Given the description of an element on the screen output the (x, y) to click on. 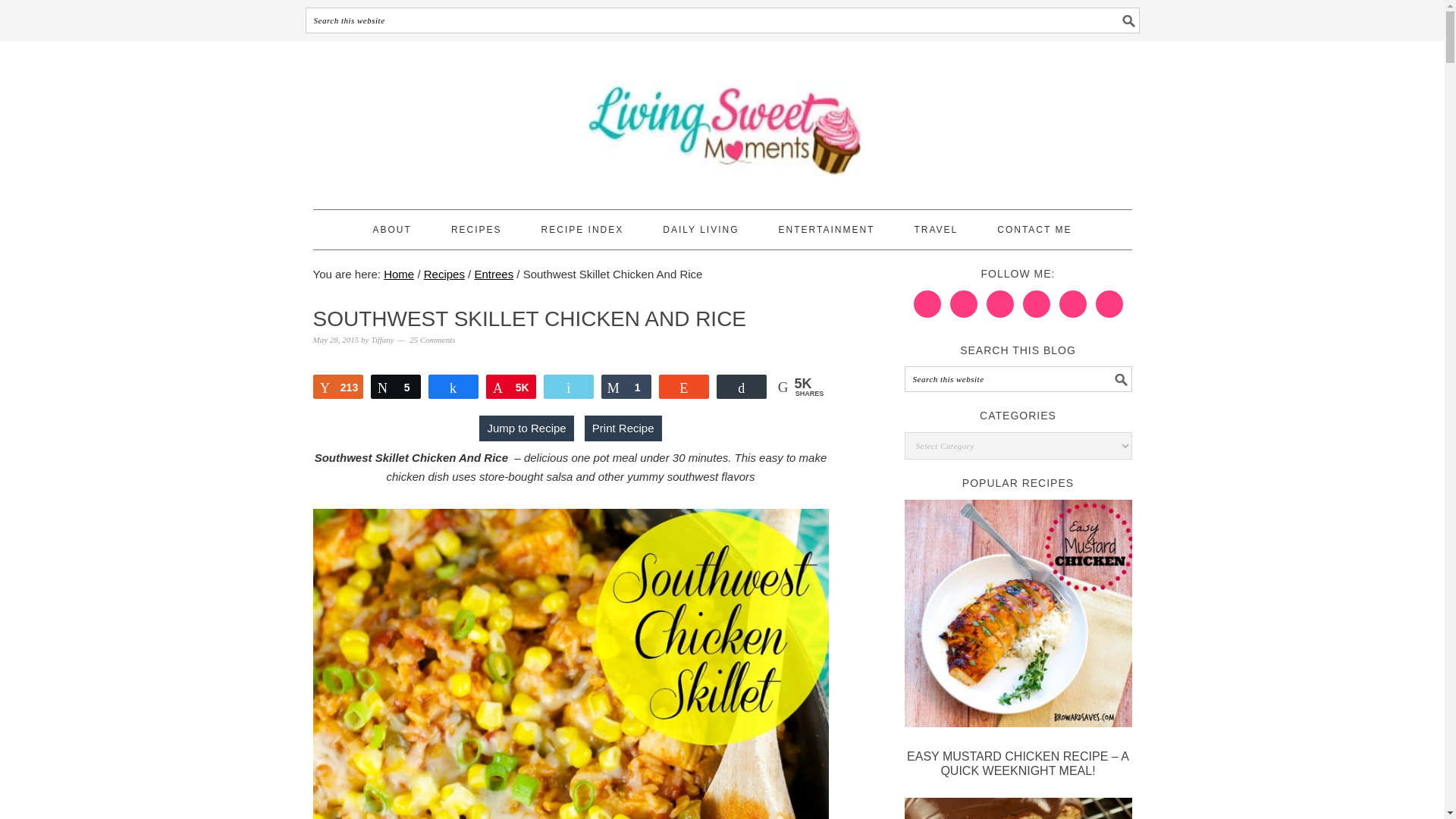
LIVING SWEET MOMENTS (722, 118)
2 Ingredient Banana Bread (1017, 808)
RECIPES (476, 229)
ABOUT (391, 229)
RECIPE INDEX (582, 229)
